Given the description of an element on the screen output the (x, y) to click on. 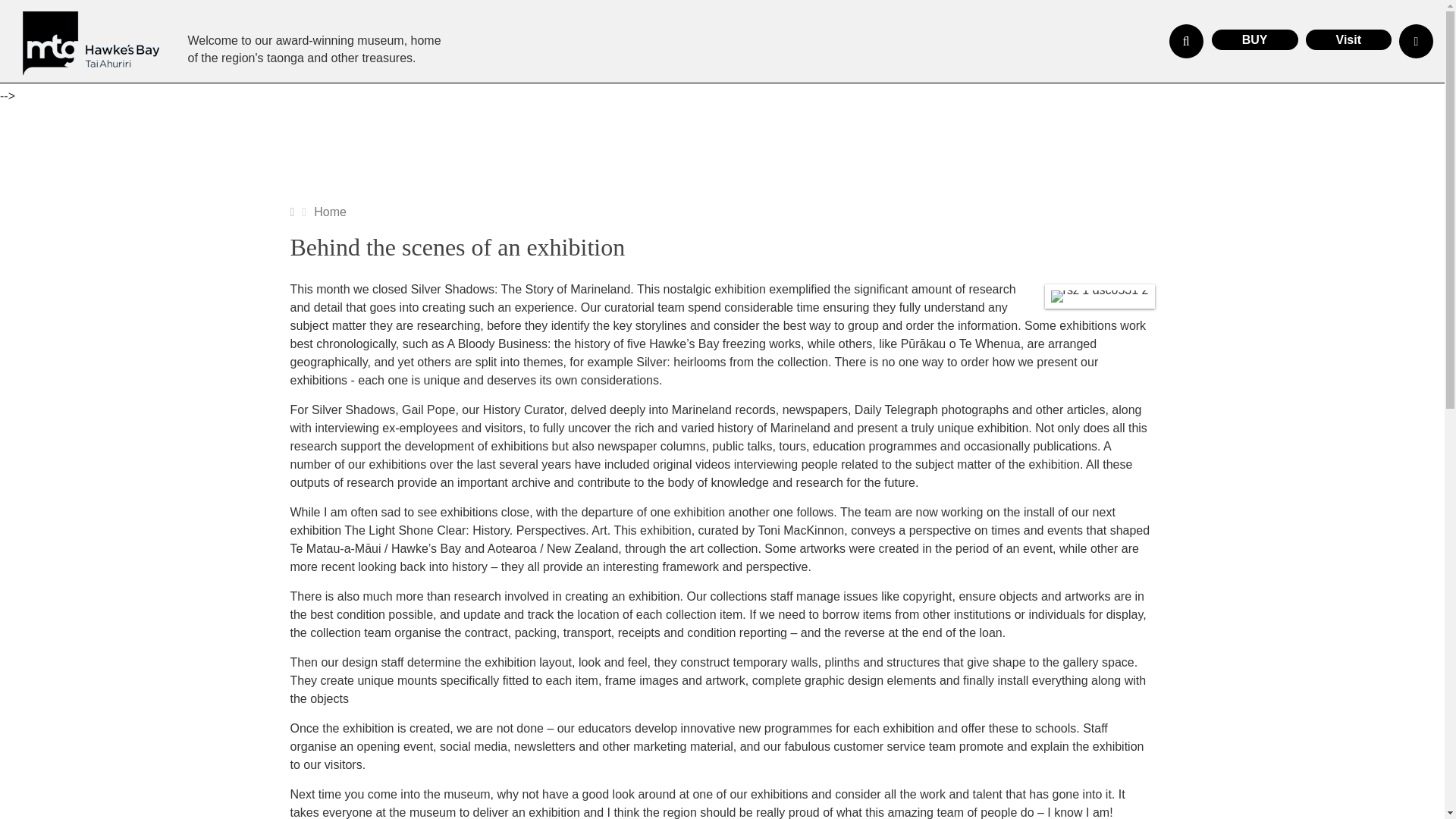
Search the website.  (1186, 41)
MTG Hawke's Bay homepage.  (90, 43)
Open menu.  (1415, 41)
BUY (1254, 39)
Visit (1348, 39)
Open the menu (1415, 41)
I'm looking for (1186, 41)
